Given the description of an element on the screen output the (x, y) to click on. 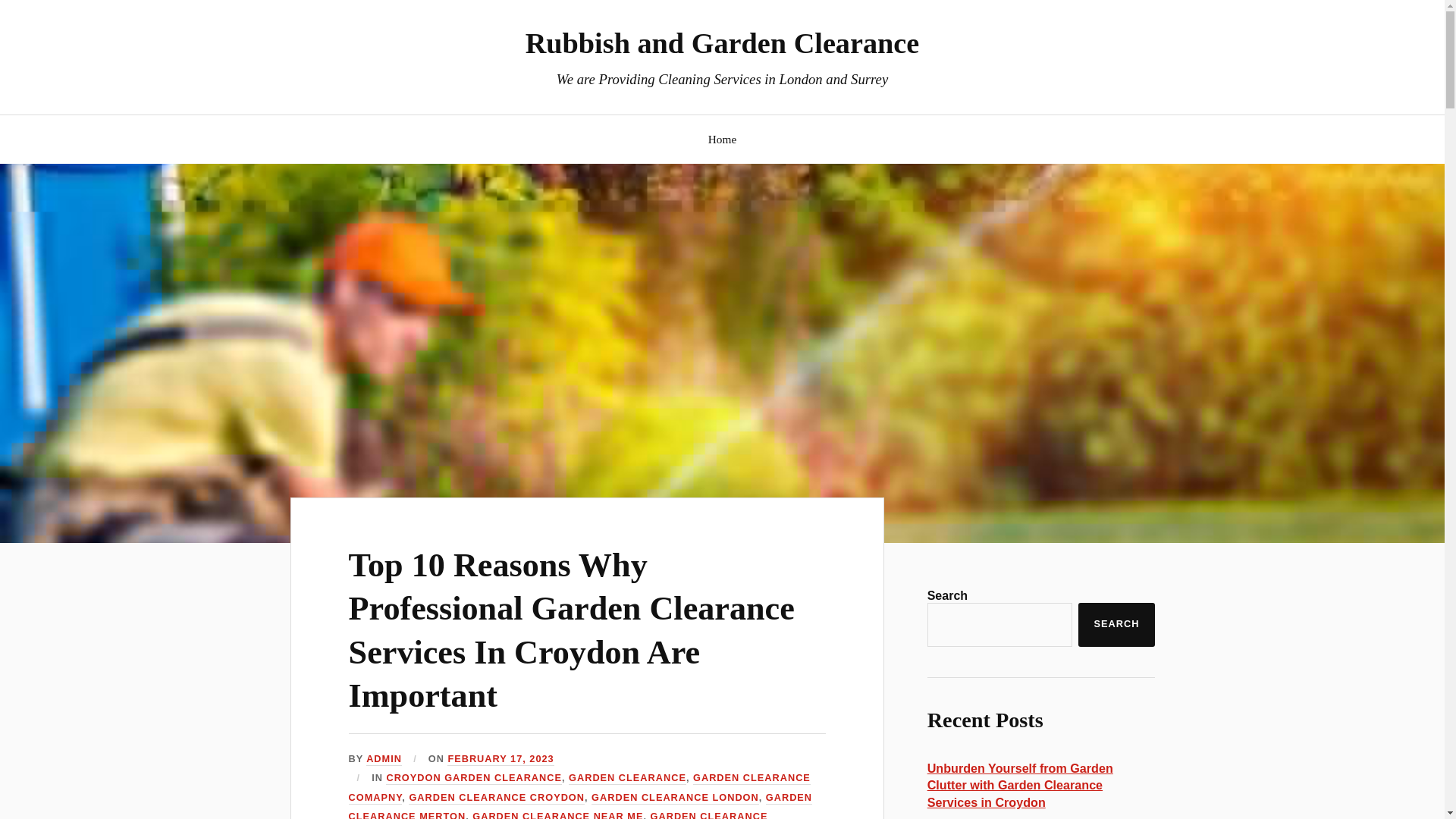
Rubbish and Garden Clearance (722, 42)
GARDEN CLEARANCE COMAPNY (579, 788)
ADMIN (383, 758)
FEBRUARY 17, 2023 (499, 758)
GARDEN CLEARANCE CROYDON (497, 797)
GARDEN CLEARANCE NEAR ME (557, 814)
CROYDON GARDEN CLEARANCE (473, 778)
GARDEN CLEARANCE MERTON (580, 805)
